Given the description of an element on the screen output the (x, y) to click on. 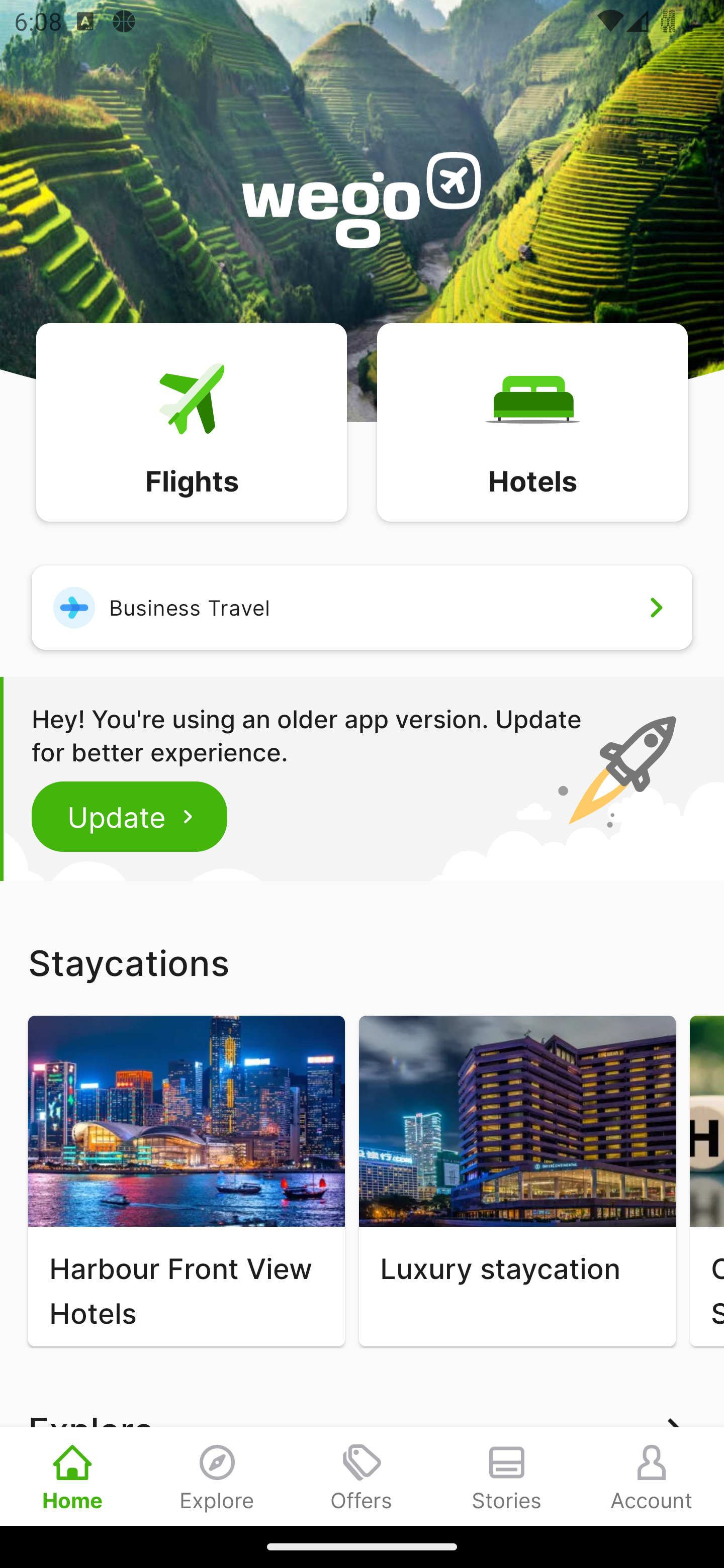
Flights (191, 420)
Hotels (532, 420)
Business Travel (361, 607)
Update (129, 815)
Staycations (362, 962)
Harbour Front View Hotels (186, 1181)
Luxury staycation (517, 1181)
Explore (216, 1475)
Offers (361, 1475)
Stories (506, 1475)
Account (651, 1475)
